Given the description of an element on the screen output the (x, y) to click on. 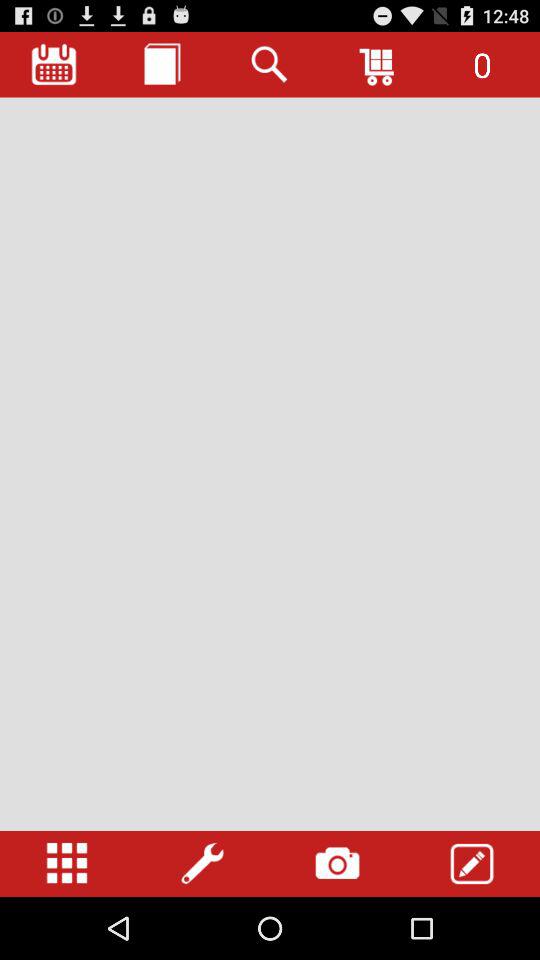
go to the camera tab (337, 863)
